Given the description of an element on the screen output the (x, y) to click on. 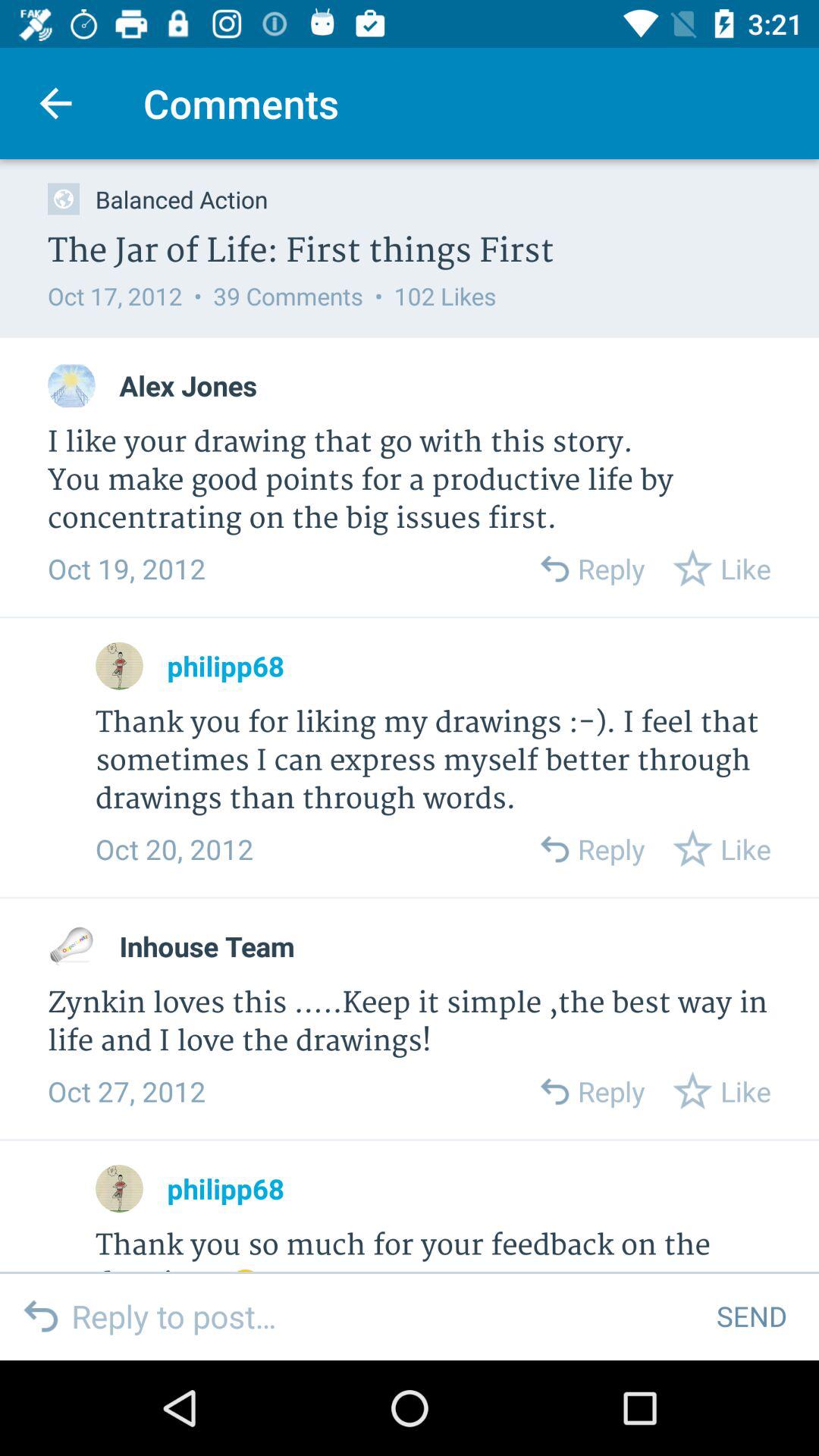
reply option (553, 1091)
